Given the description of an element on the screen output the (x, y) to click on. 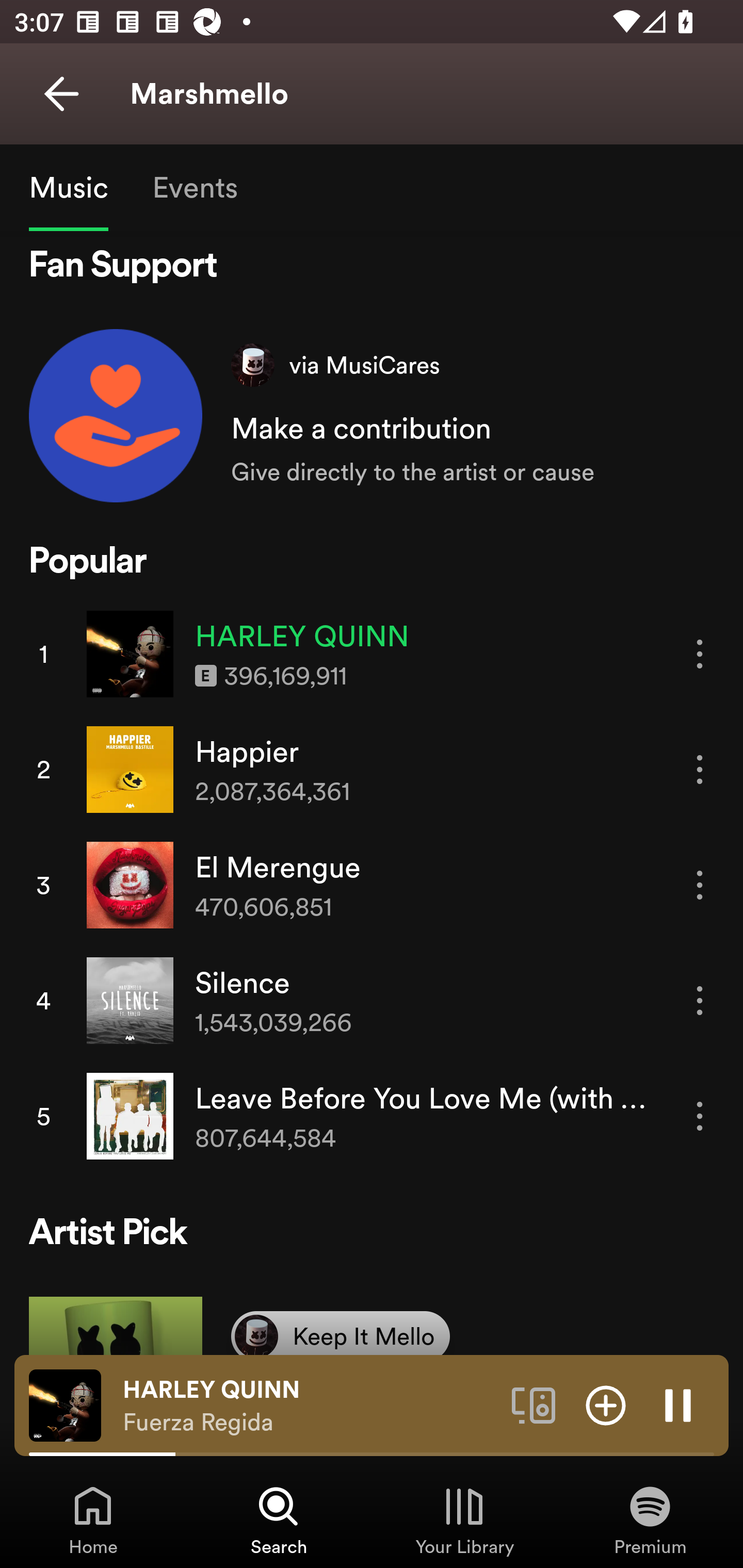
Back (60, 93)
Events (194, 187)
More options for song HARLEY QUINN (699, 653)
More options for song Happier (699, 768)
More options for song El Merengue (699, 885)
More options for song Silence (699, 1001)
HARLEY QUINN Fuerza Regida (309, 1405)
The cover art of the currently playing track (64, 1404)
Connect to a device. Opens the devices menu (533, 1404)
Add item (605, 1404)
Pause (677, 1404)
Home, Tab 1 of 4 Home Home (92, 1519)
Search, Tab 2 of 4 Search Search (278, 1519)
Your Library, Tab 3 of 4 Your Library Your Library (464, 1519)
Premium, Tab 4 of 4 Premium Premium (650, 1519)
